Given the description of an element on the screen output the (x, y) to click on. 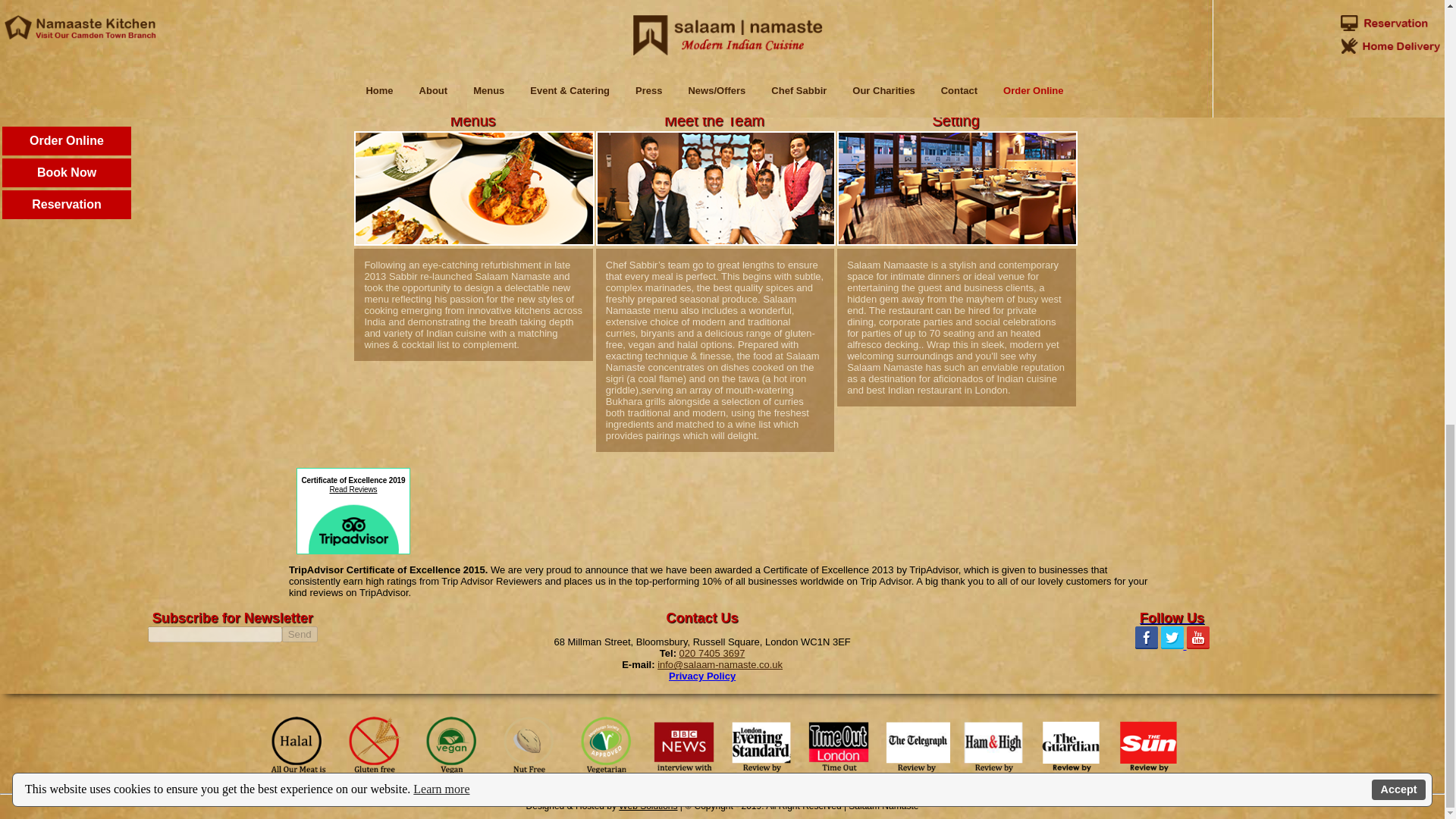
Sabbir Karim (585, 71)
Send (299, 634)
020 7405 3697 (712, 653)
Follow Us (1172, 617)
Privacy Policy (701, 675)
